Given the description of an element on the screen output the (x, y) to click on. 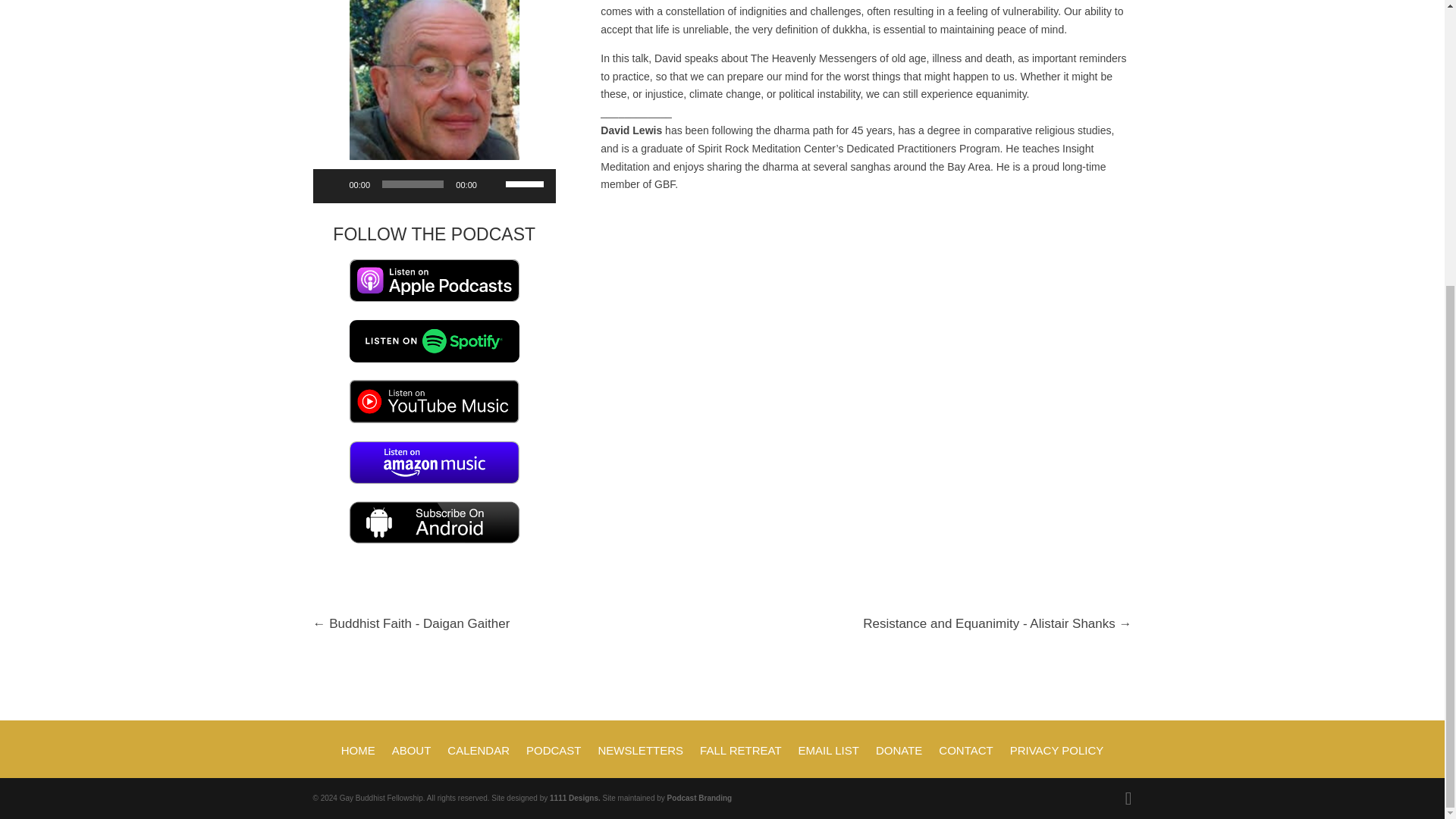
Android-Button-400x100 (434, 522)
Play (331, 183)
Mute (493, 183)
FALL RETREAT (740, 761)
EMAIL LIST (828, 761)
amazon-podcast-badges (434, 462)
PRIVACY POLICY (1056, 761)
spotify-400x100 (434, 341)
CONTACT (965, 761)
NEWSLETTERS (641, 761)
